Given the description of an element on the screen output the (x, y) to click on. 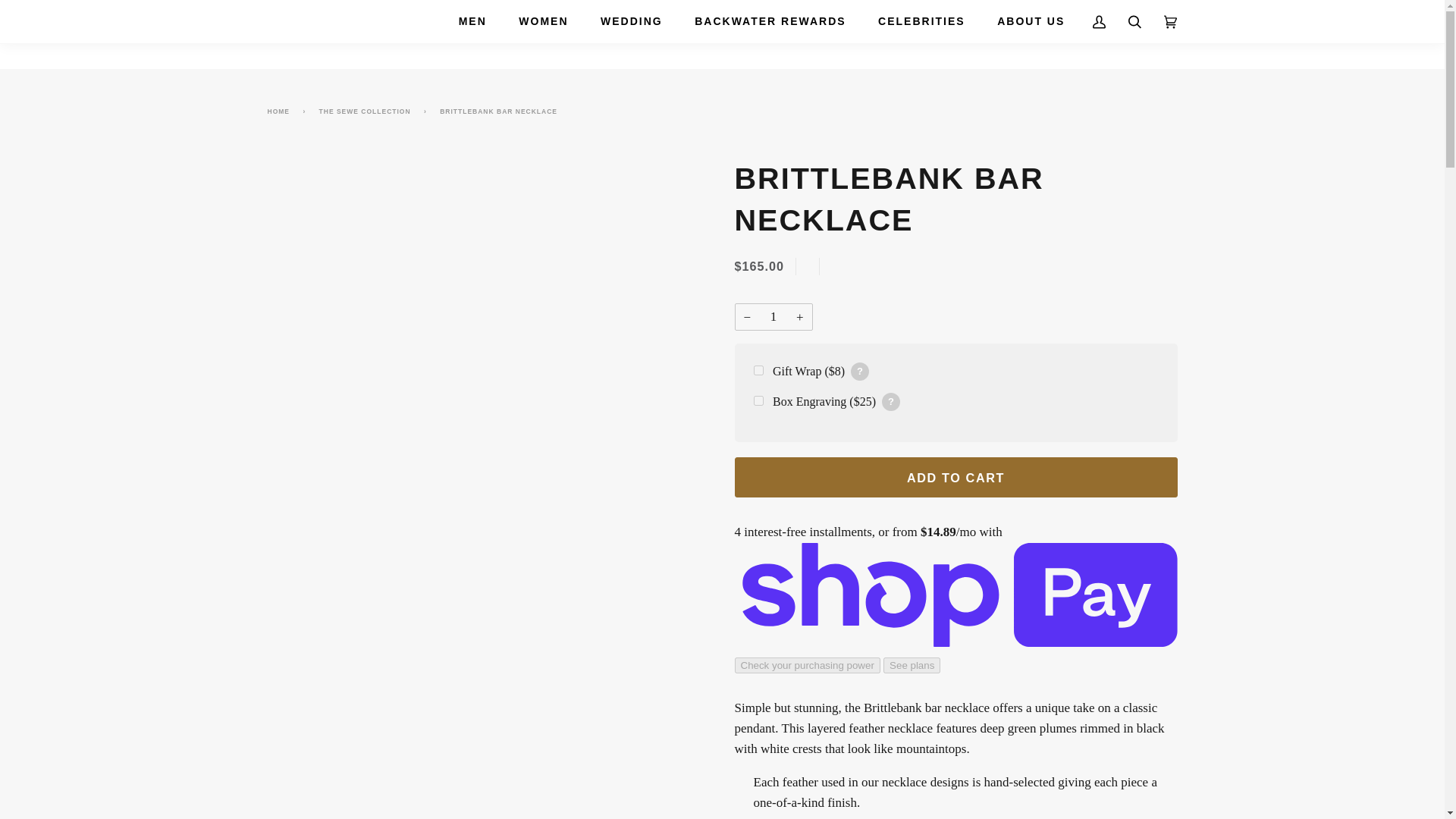
1 (772, 316)
on (758, 370)
MEN (472, 21)
WOMEN (543, 21)
on (758, 400)
Back to the frontpage (280, 111)
